Given the description of an element on the screen output the (x, y) to click on. 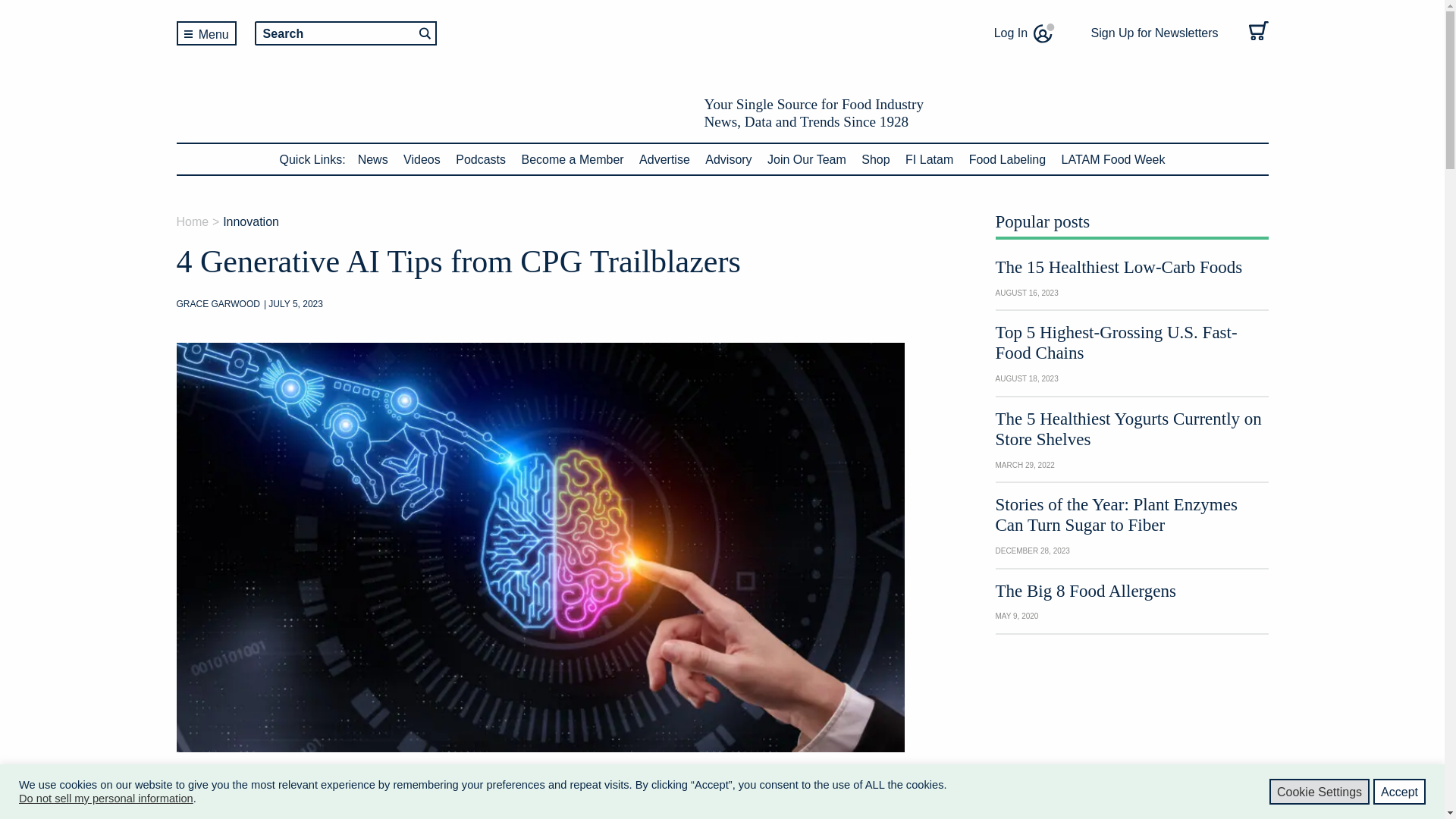
Posts by Grace Garwood (217, 303)
Menu (205, 33)
